Given the description of an element on the screen output the (x, y) to click on. 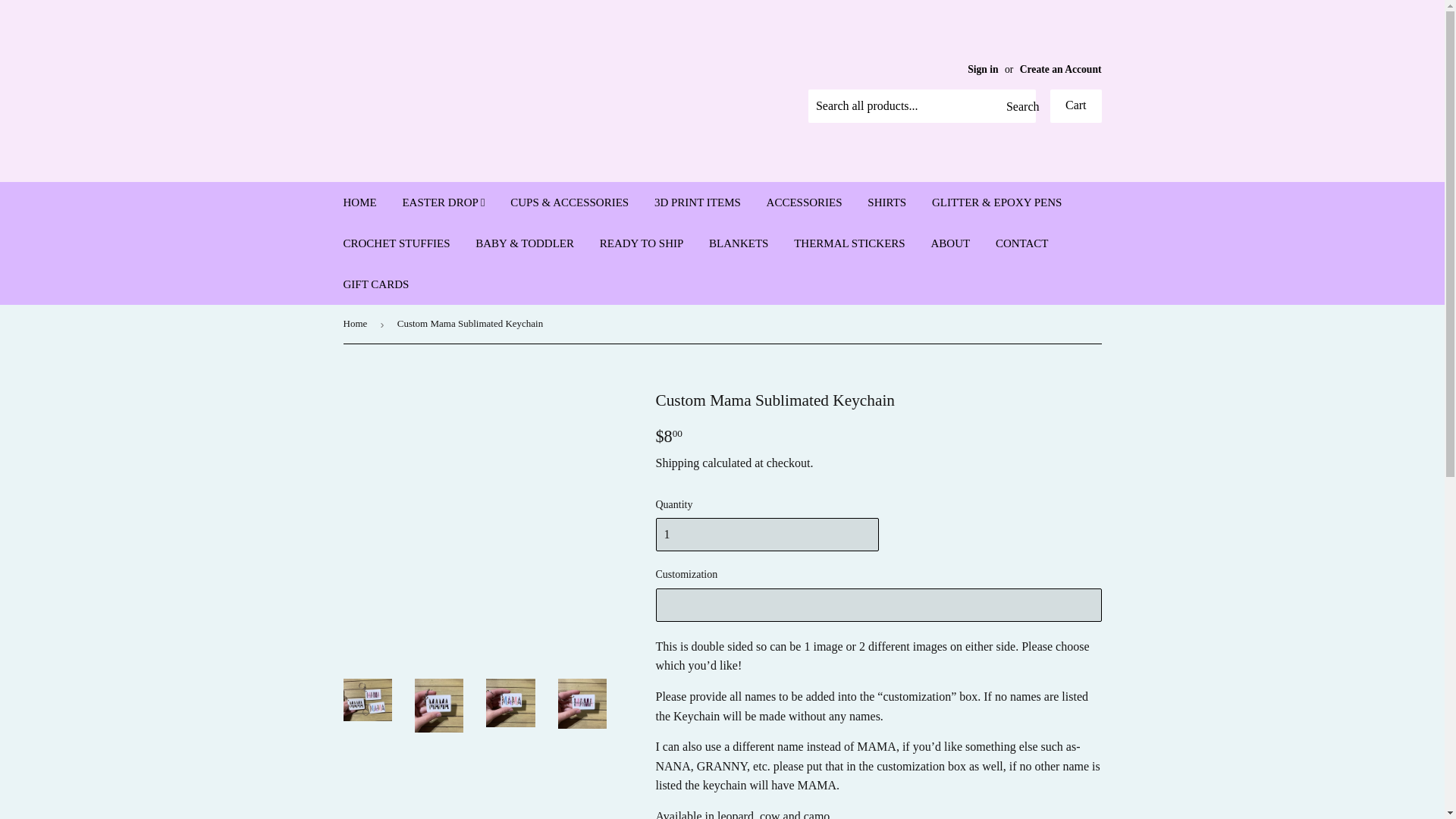
1 (766, 534)
Create an Account (1061, 69)
Search (1018, 106)
Cart (1075, 105)
Sign in (982, 69)
